Given the description of an element on the screen output the (x, y) to click on. 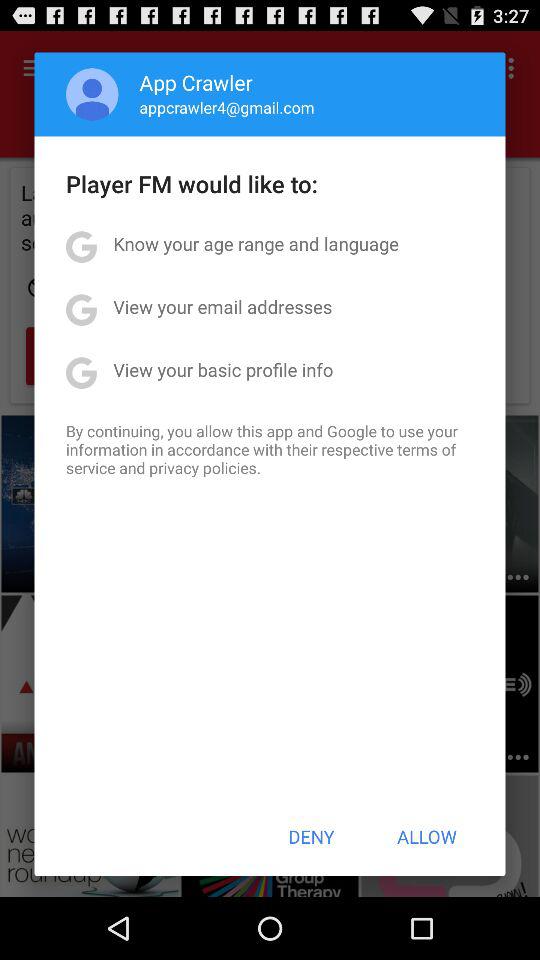
open the item above player fm would icon (226, 107)
